Given the description of an element on the screen output the (x, y) to click on. 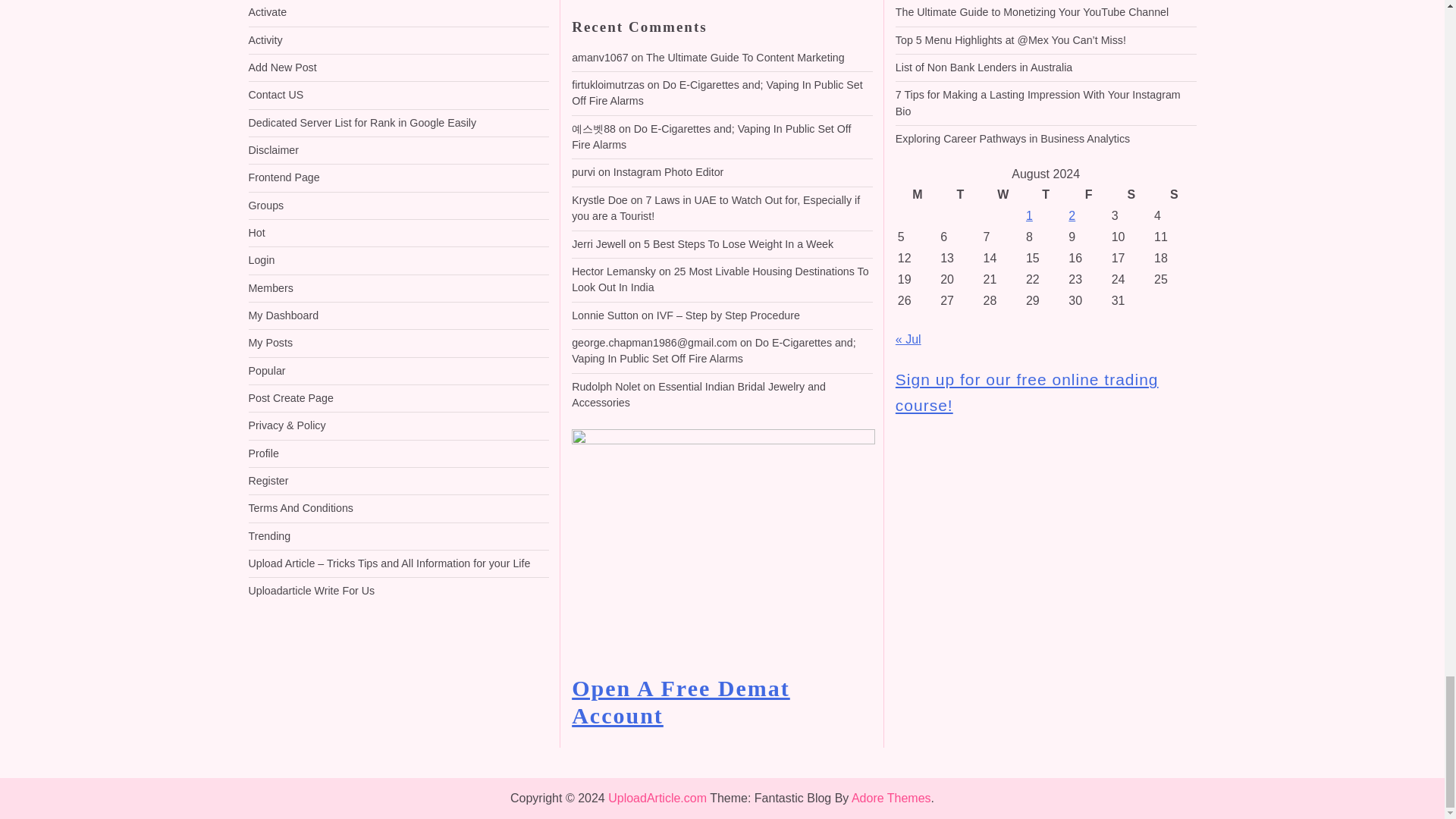
Monday (916, 194)
Saturday (1130, 194)
Tuesday (959, 194)
Thursday (1045, 194)
Friday (1087, 194)
Wednesday (1002, 194)
Sunday (1173, 194)
